Given the description of an element on the screen output the (x, y) to click on. 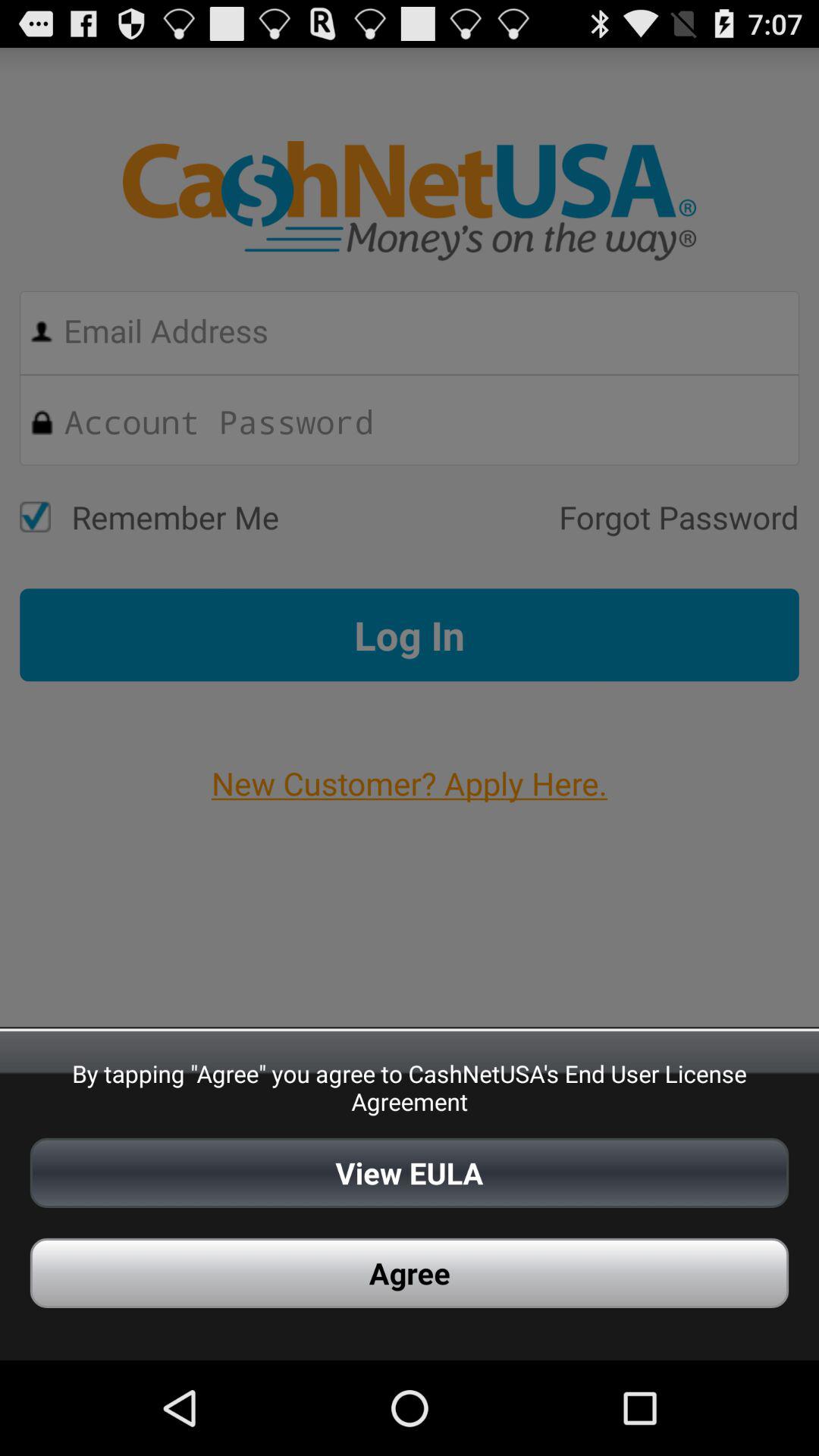
tap view eula icon (409, 1173)
